Given the description of an element on the screen output the (x, y) to click on. 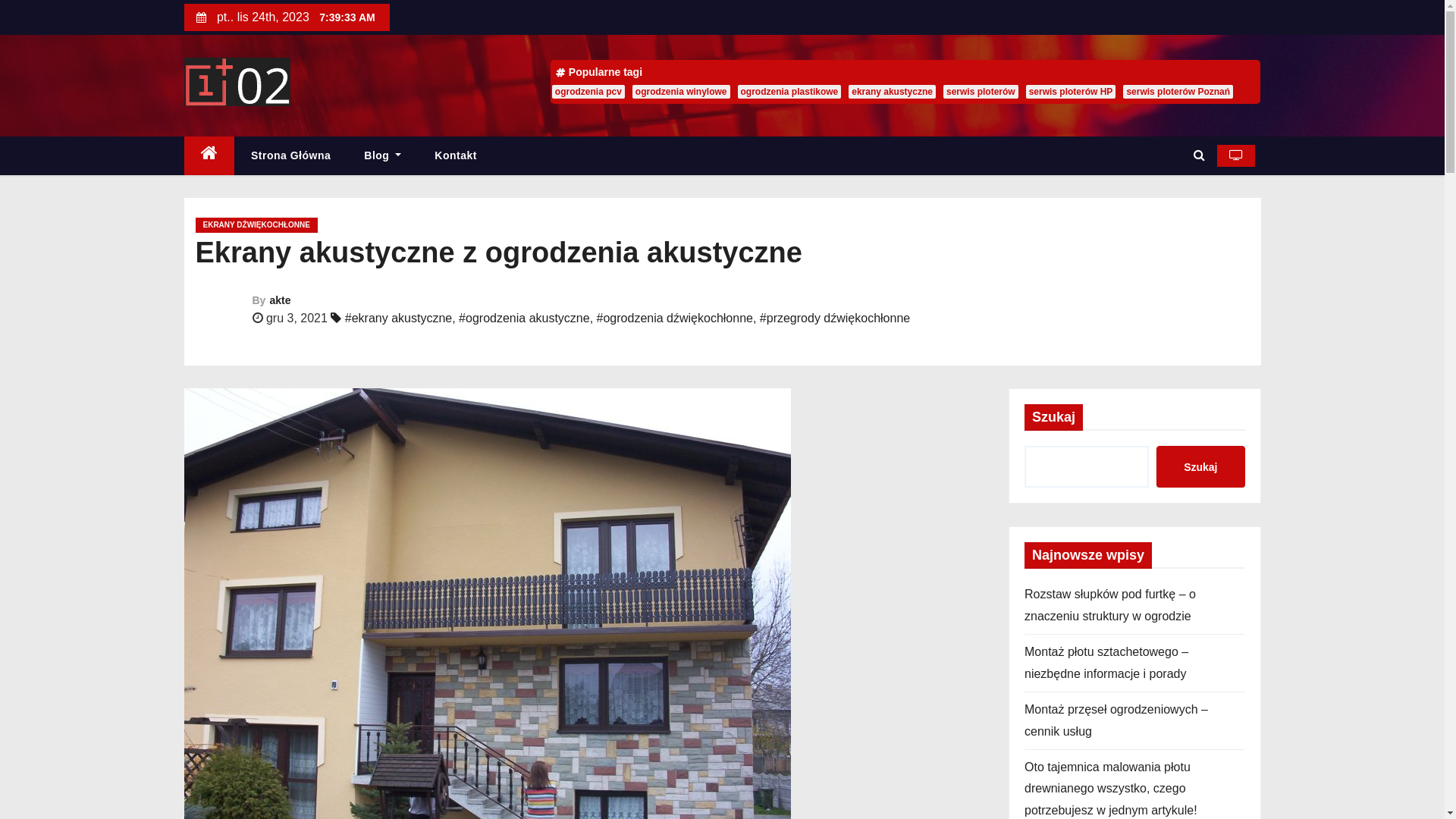
Szukaj Element type: text (1200, 466)
Blog Element type: text (382, 155)
Home Element type: hover (208, 155)
ogrodzenia plastikowe Element type: text (789, 91)
ogrodzenia winylowe Element type: text (681, 91)
Kontakt Element type: text (455, 155)
akte Element type: text (279, 300)
#ogrodzenia akustyczne Element type: text (523, 317)
ekrany akustyczne Element type: text (891, 91)
ogrodzenia pcv Element type: text (588, 91)
#ekrany akustyczne Element type: text (398, 317)
